Given the description of an element on the screen output the (x, y) to click on. 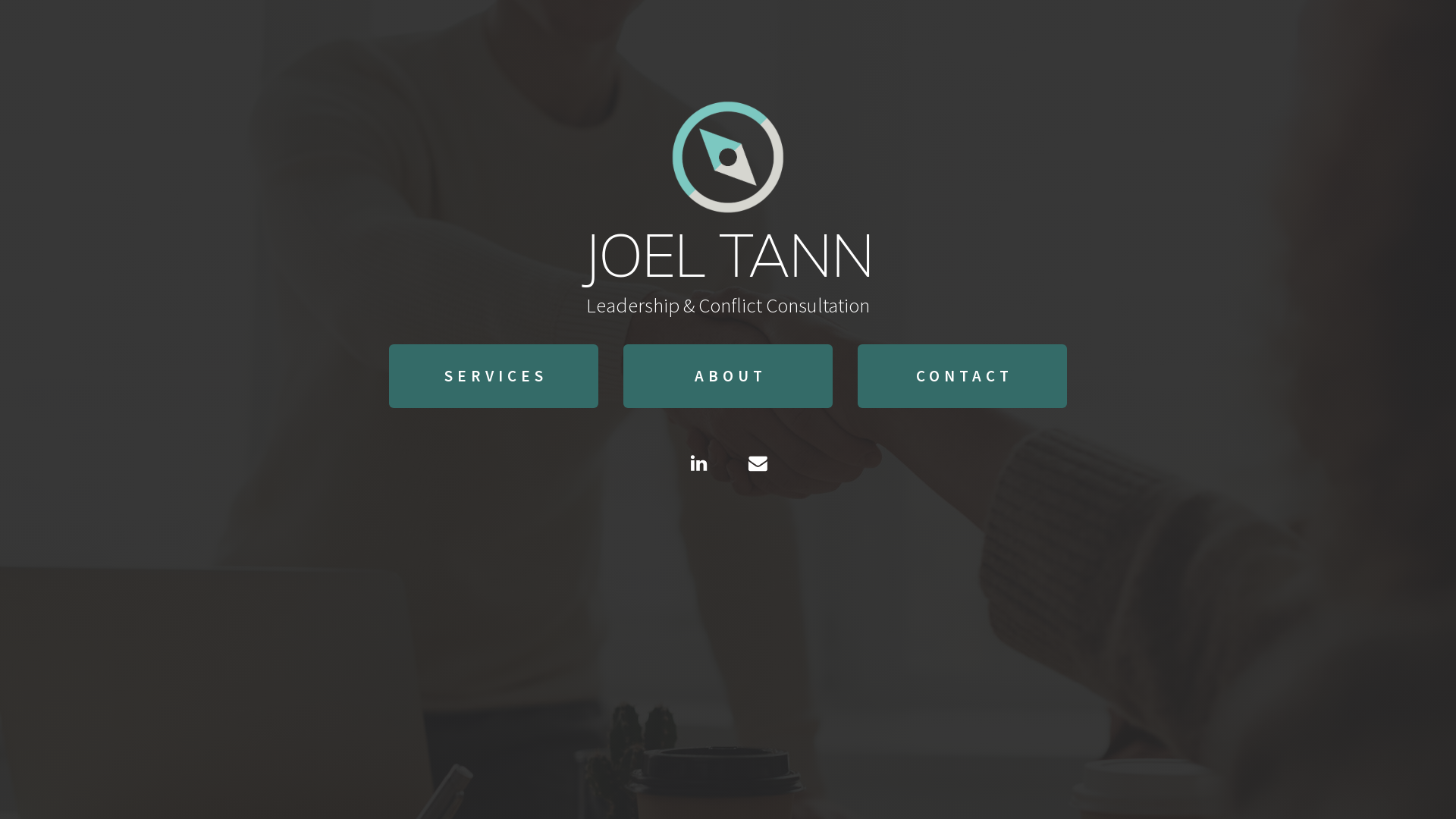
ABOUT Element type: text (727, 375)
CONTACT Element type: text (961, 375)
SERVICES Element type: text (493, 375)
